Given the description of an element on the screen output the (x, y) to click on. 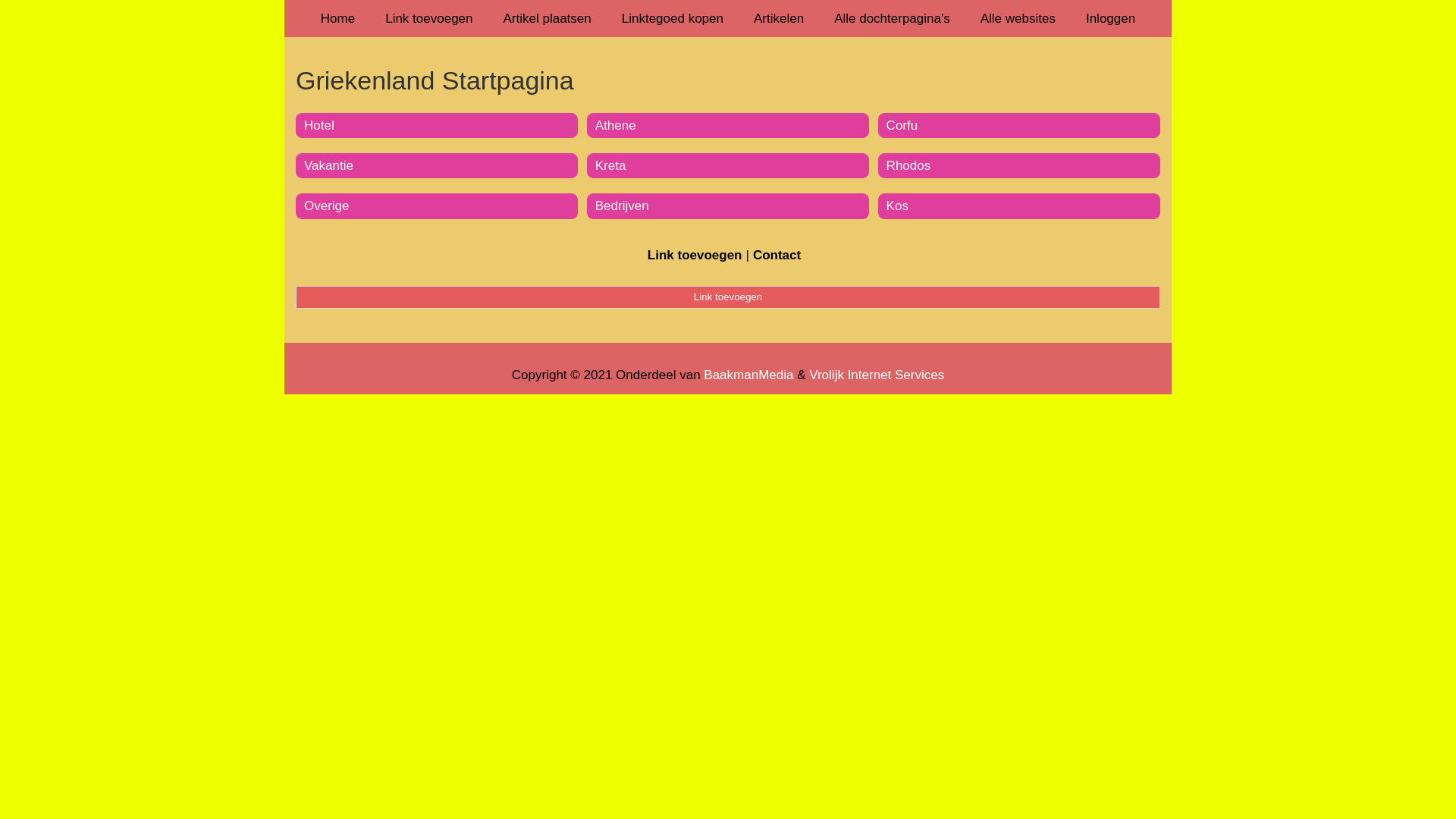
Contact Element type: text (776, 254)
Athene Element type: text (615, 125)
Inloggen Element type: text (1110, 18)
Linktegoed kopen Element type: text (672, 18)
Corfu Element type: text (902, 125)
Home Element type: text (337, 18)
Griekenland Startpagina Element type: text (727, 80)
Vrolijk Internet Services Element type: text (876, 374)
BaakmanMedia Element type: text (748, 374)
Rhodos Element type: text (908, 165)
Artikel plaatsen Element type: text (547, 18)
Artikelen Element type: text (778, 18)
Hotel Element type: text (319, 125)
Bedrijven Element type: text (622, 205)
Alle websites Element type: text (1017, 18)
Link toevoegen Element type: text (428, 18)
Kreta Element type: text (610, 165)
Link toevoegen Element type: text (694, 254)
Overige Element type: text (326, 205)
Alle dochterpagina's Element type: text (892, 18)
Vakantie Element type: text (328, 165)
Kos Element type: text (897, 205)
Link toevoegen Element type: text (727, 296)
